Given the description of an element on the screen output the (x, y) to click on. 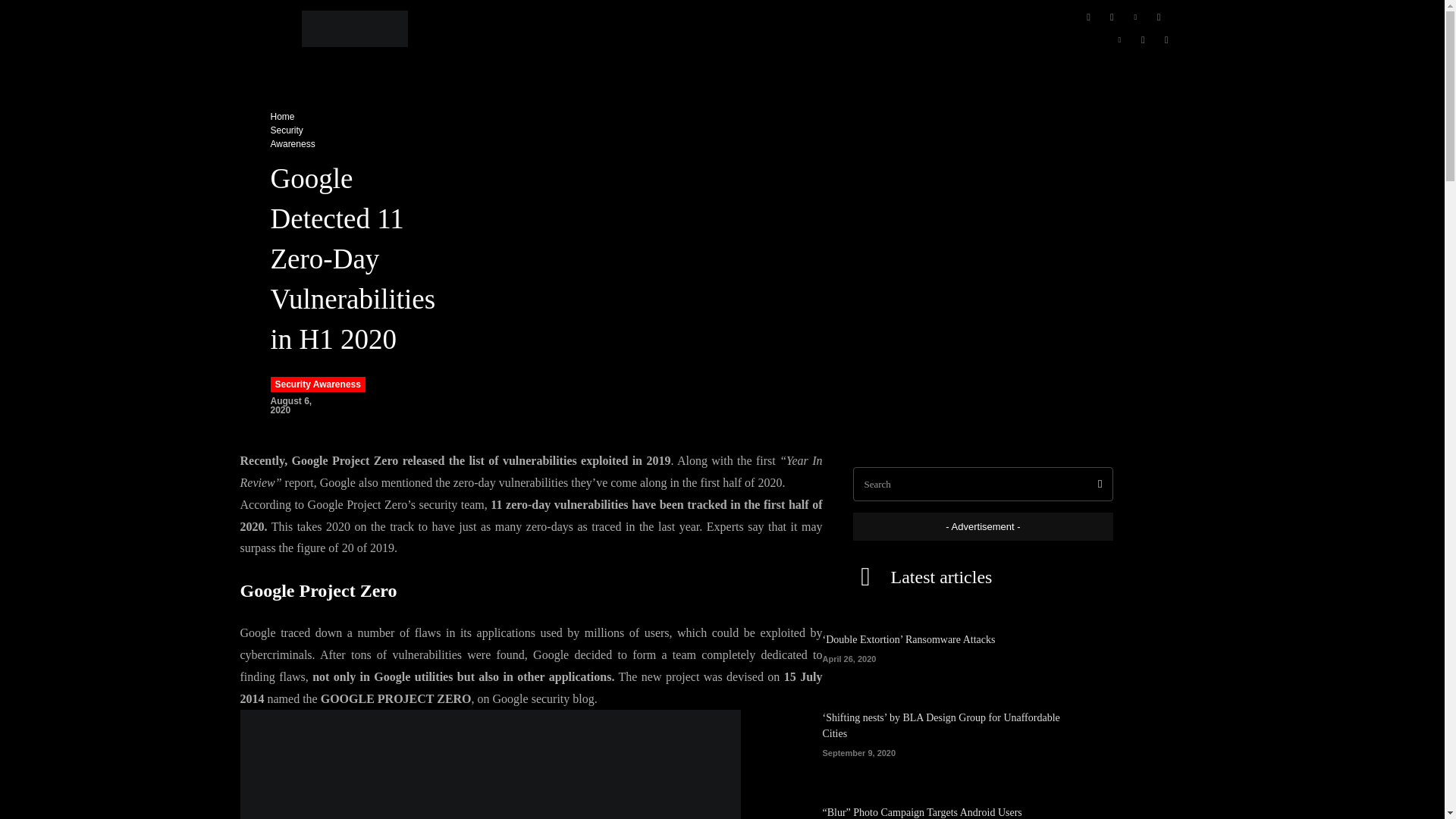
Linkedin (1134, 17)
Facebook (1088, 17)
Instagram (1111, 17)
Security Awareness (317, 384)
Security Awareness (291, 137)
Home (281, 116)
Paypal (1159, 17)
